Given the description of an element on the screen output the (x, y) to click on. 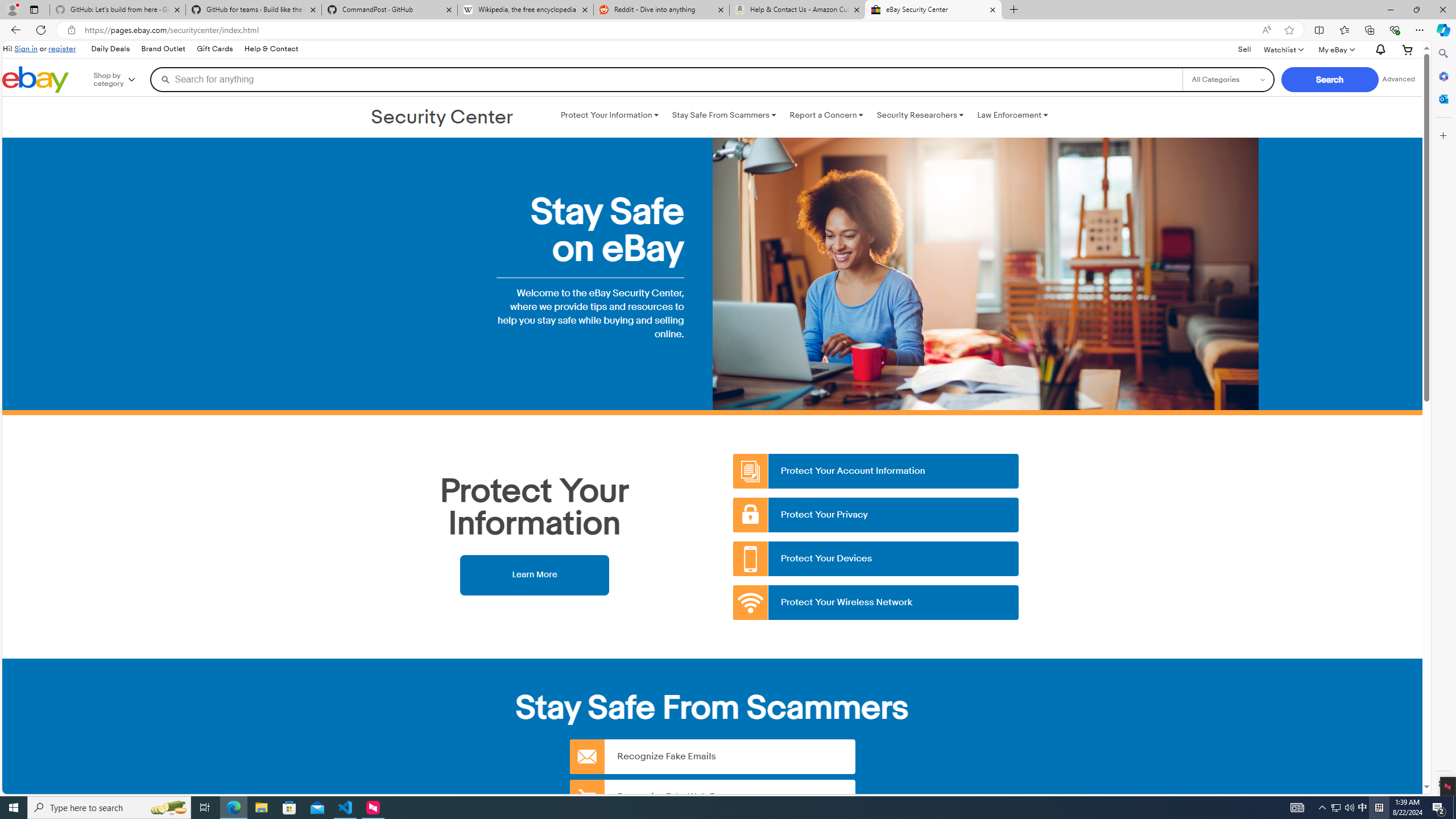
Side bar (1443, 418)
Learn More (534, 574)
Security Center (442, 117)
Protect Your Information  (608, 115)
Protect Your Wireless Network (876, 602)
Help & Contact (270, 49)
Watchlist (1282, 49)
Protect Your Privacy (876, 514)
Law Enforcement  (1012, 115)
Reddit - Dive into anything (660, 9)
App bar (728, 29)
Security Researchers  (919, 115)
